Given the description of an element on the screen output the (x, y) to click on. 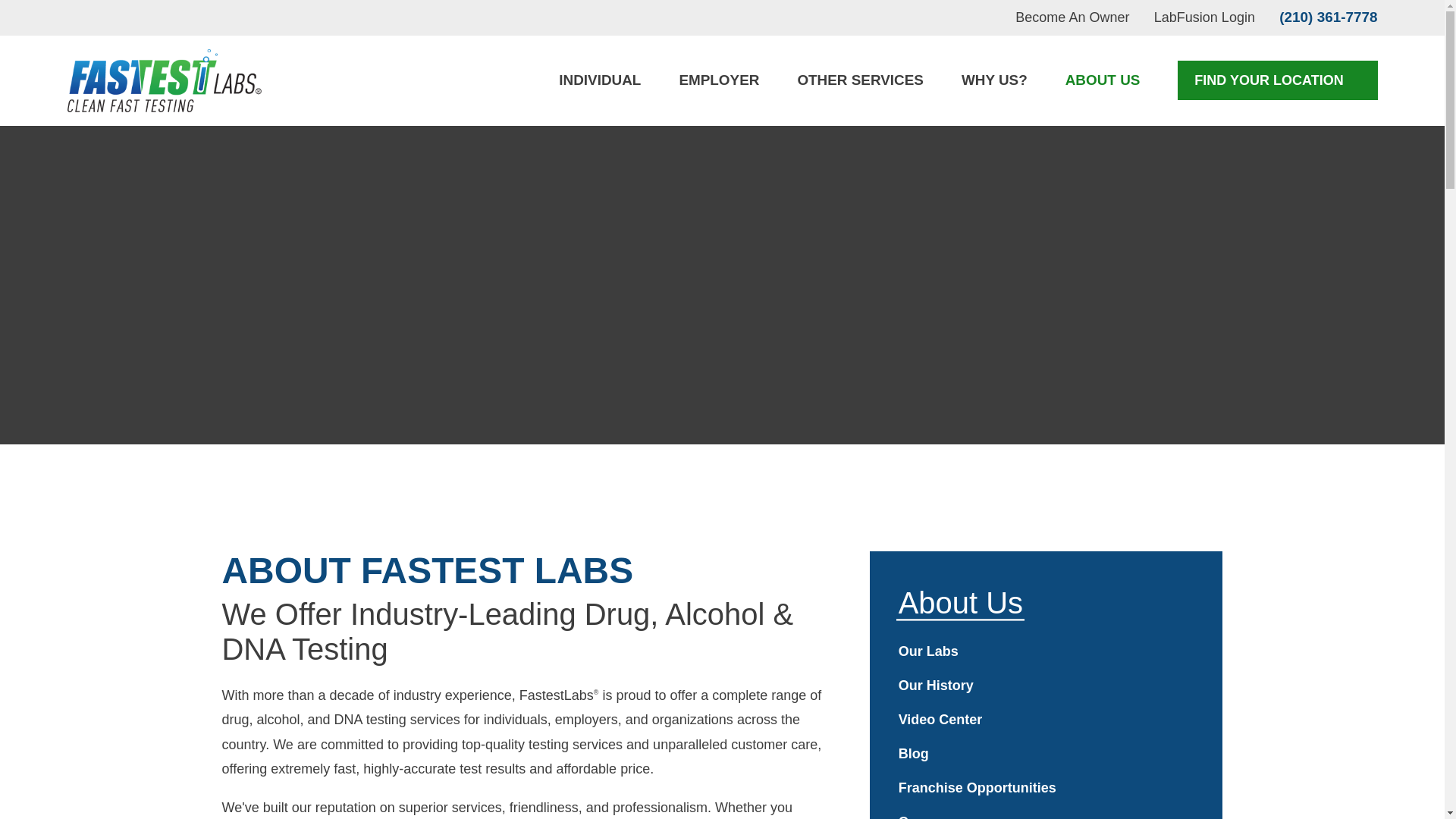
Home (163, 80)
LabFusion Login (1204, 17)
EMPLOYER (718, 80)
INDIVIDUAL (599, 80)
Become An Owner (1071, 17)
